Given the description of an element on the screen output the (x, y) to click on. 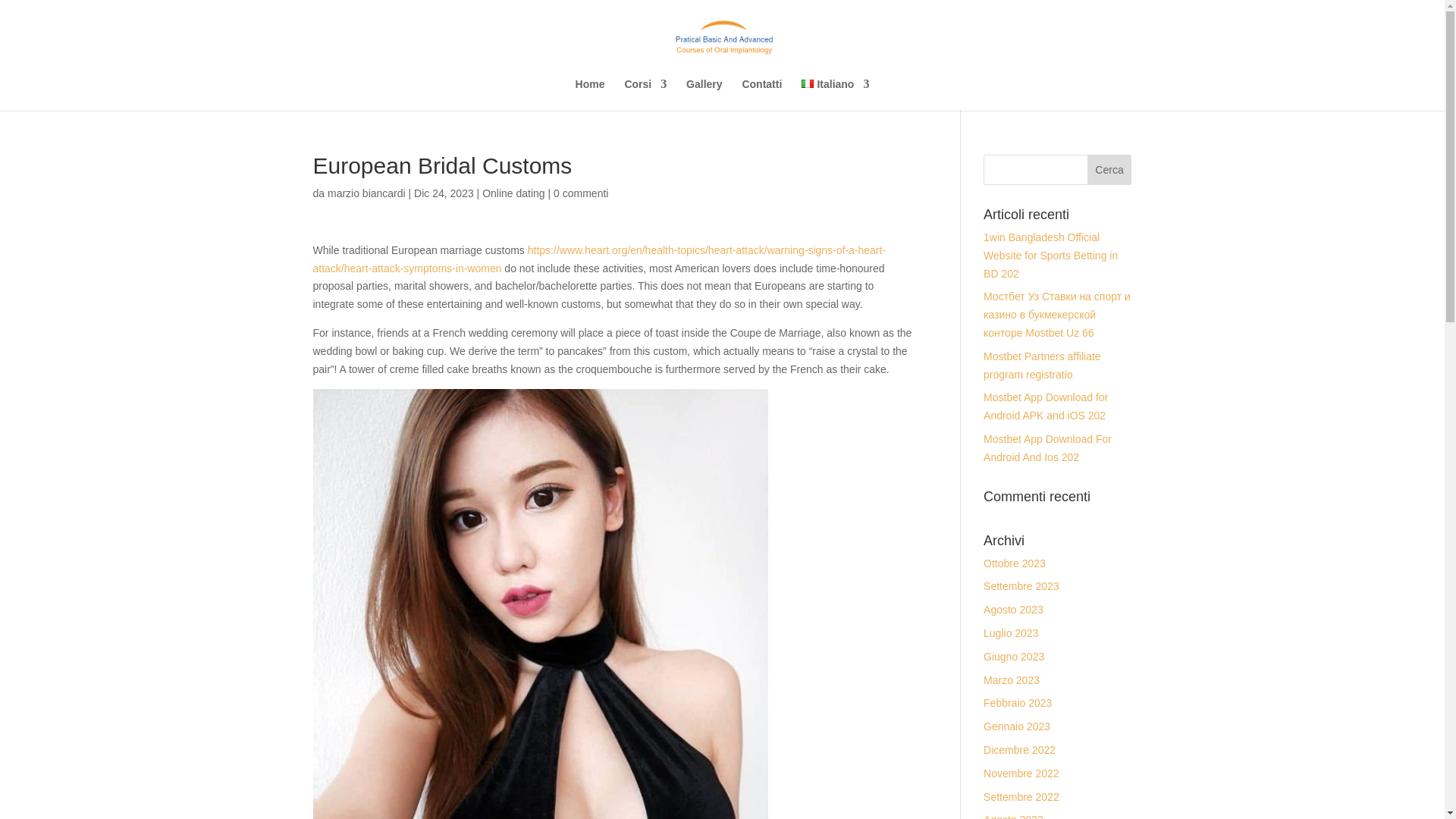
Agosto 2023 (1013, 609)
Gennaio 2023 (1016, 726)
Settembre 2023 (1021, 585)
Corsi (645, 94)
Novembre 2022 (1021, 773)
Settembre 2022 (1021, 797)
Cerca (1109, 169)
Giugno 2023 (1013, 656)
Contatti (761, 94)
Mostbet Partners affiliate program registratio (1042, 365)
